Given the description of an element on the screen output the (x, y) to click on. 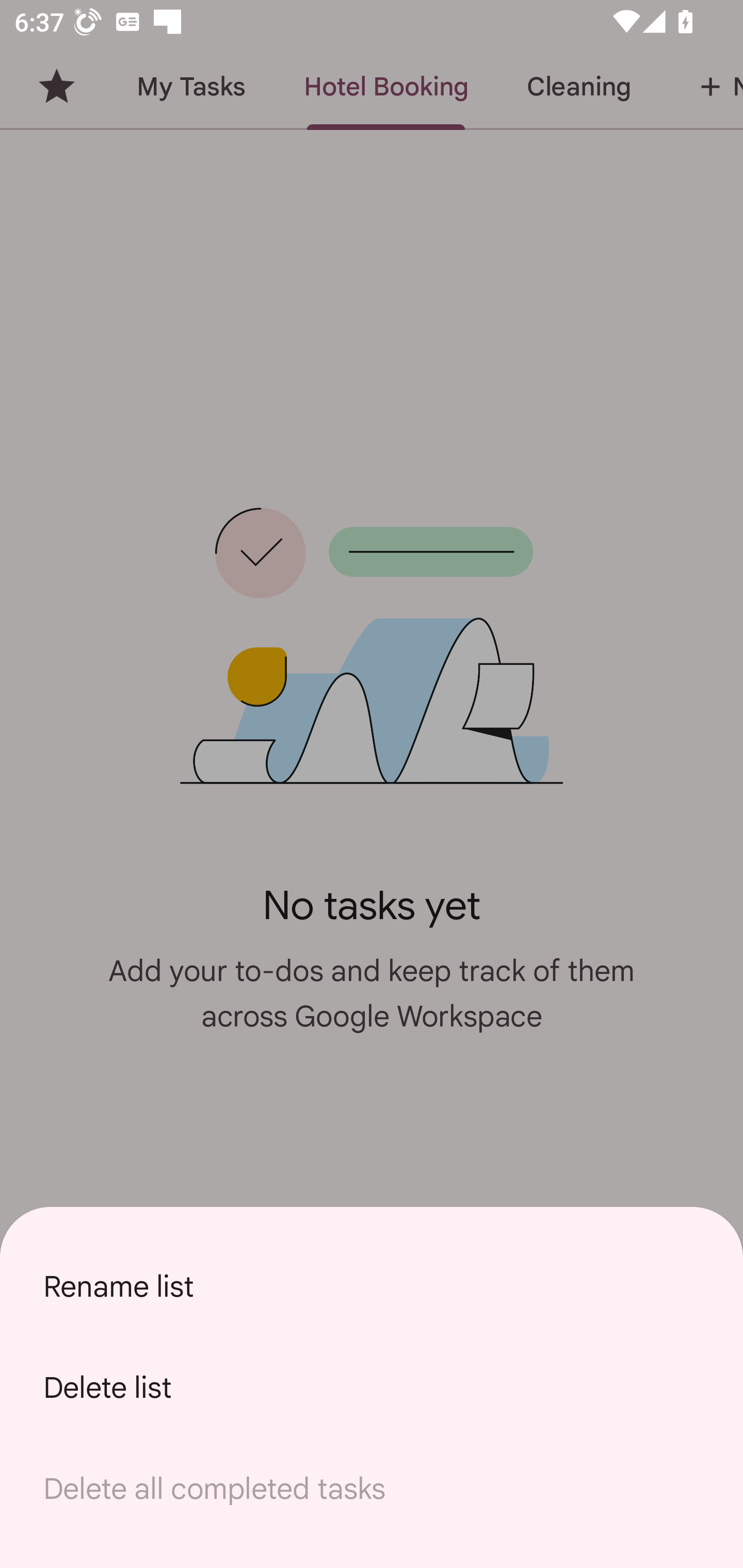
Rename list (371, 1286)
Delete list (371, 1387)
Delete all completed tasks (371, 1488)
